Given the description of an element on the screen output the (x, y) to click on. 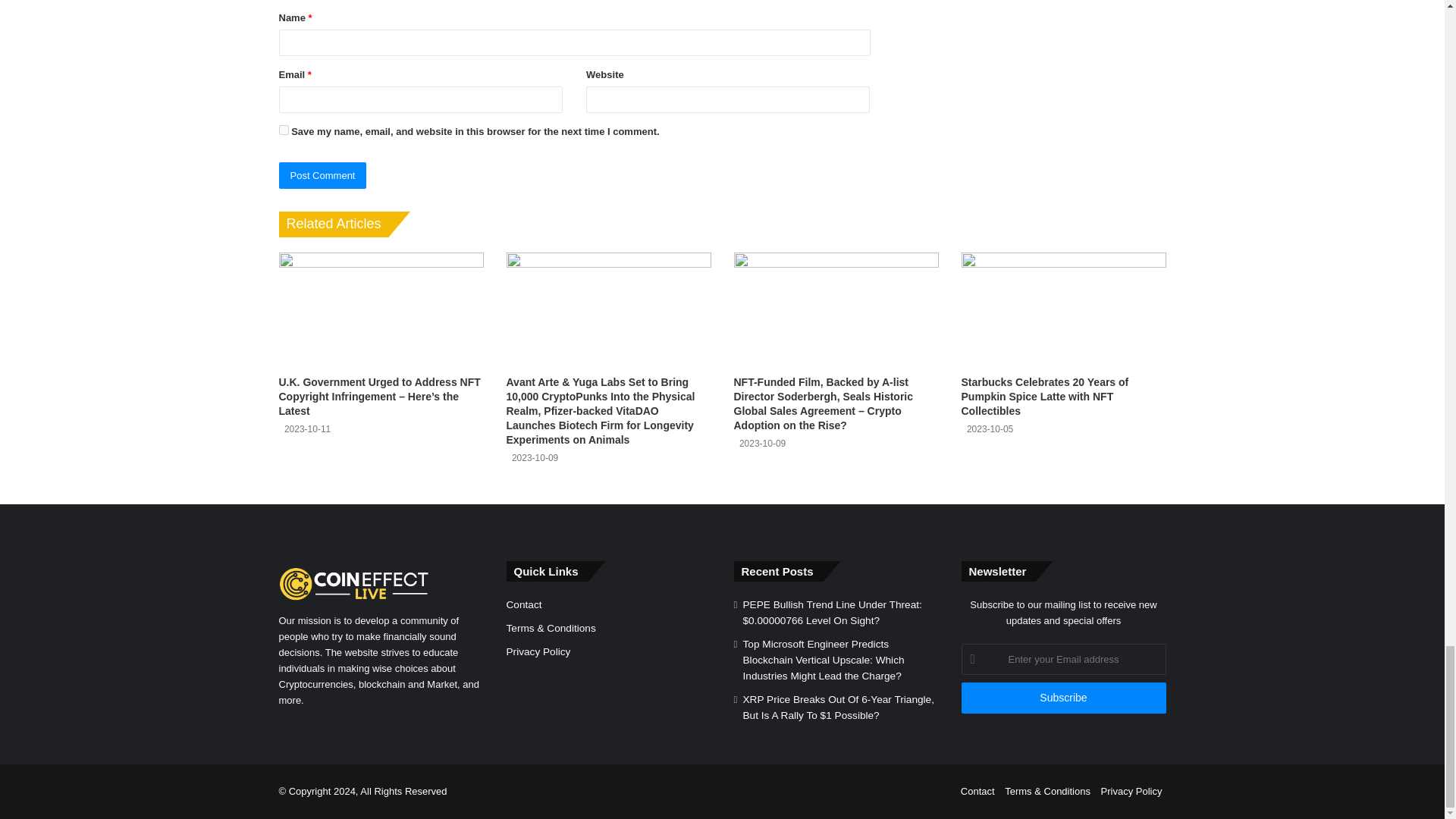
Subscribe (1063, 697)
Post Comment (322, 175)
yes (283, 130)
